Given the description of an element on the screen output the (x, y) to click on. 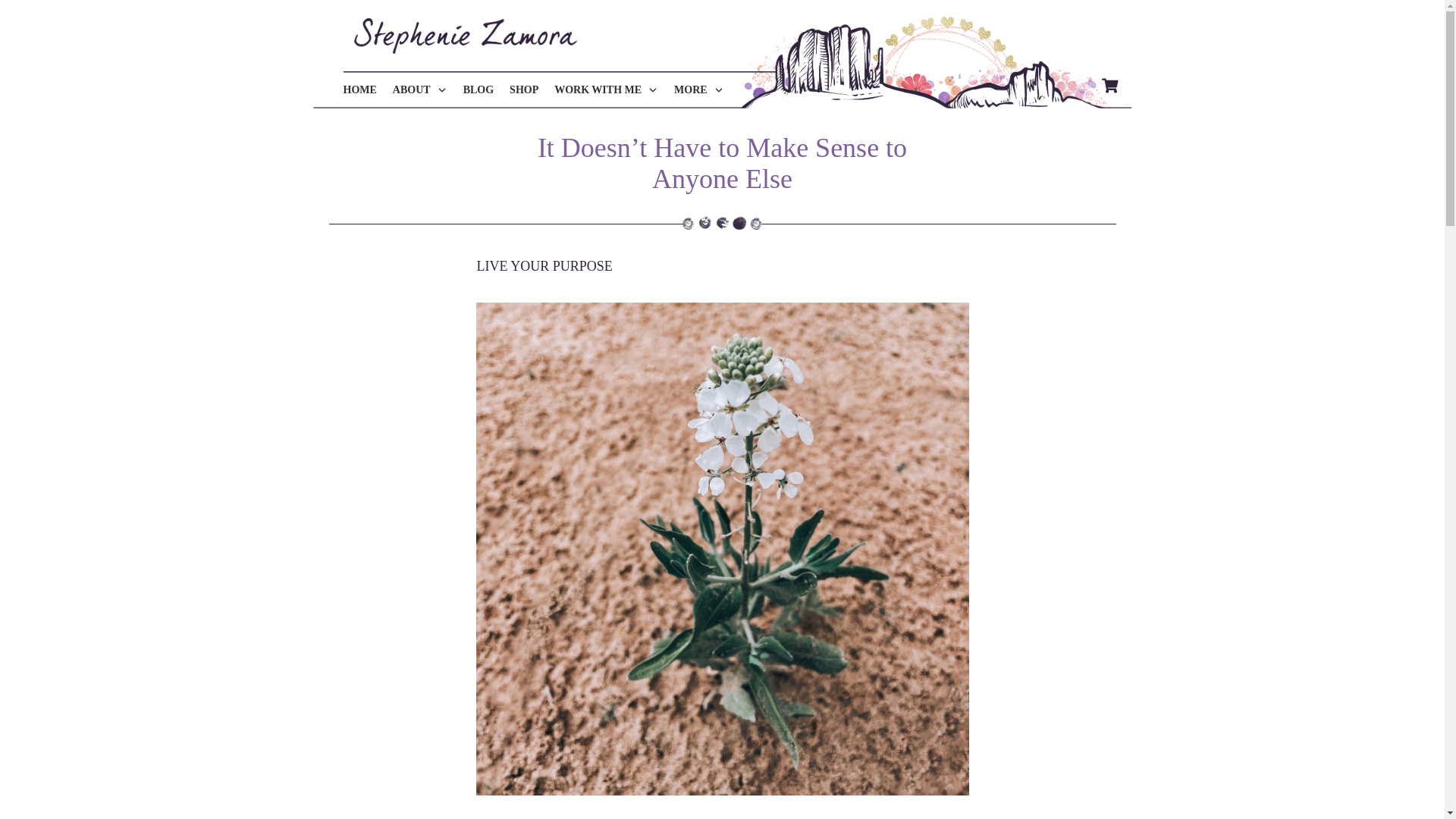
HOME (358, 89)
stephenie-zamora-logo (464, 36)
BLOG (478, 89)
WORK WITH ME (606, 89)
MORE (698, 89)
Live Your Purpose (543, 264)
SHOP (523, 89)
ABOUT (419, 89)
paint-dots (721, 223)
